Given the description of an element on the screen output the (x, y) to click on. 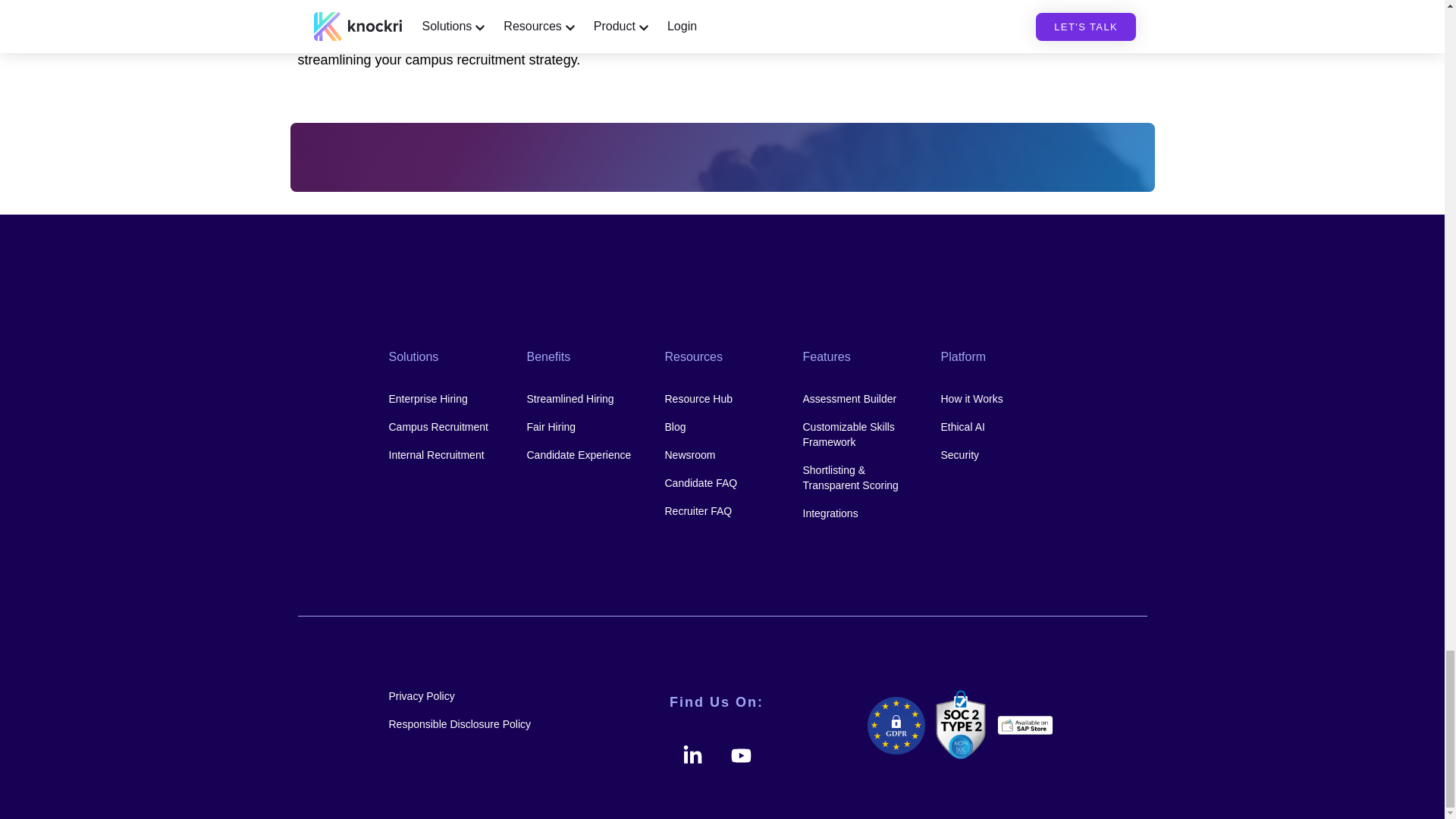
How it Works (997, 398)
Newsroom (720, 454)
Campus Recruitment (445, 426)
Assessment Builder (859, 398)
Integrations (859, 513)
Candidate FAQ (720, 482)
Enterprise Hiring (445, 398)
Candidate Experience (583, 454)
Book a demo (772, 38)
Blog (720, 426)
